Given the description of an element on the screen output the (x, y) to click on. 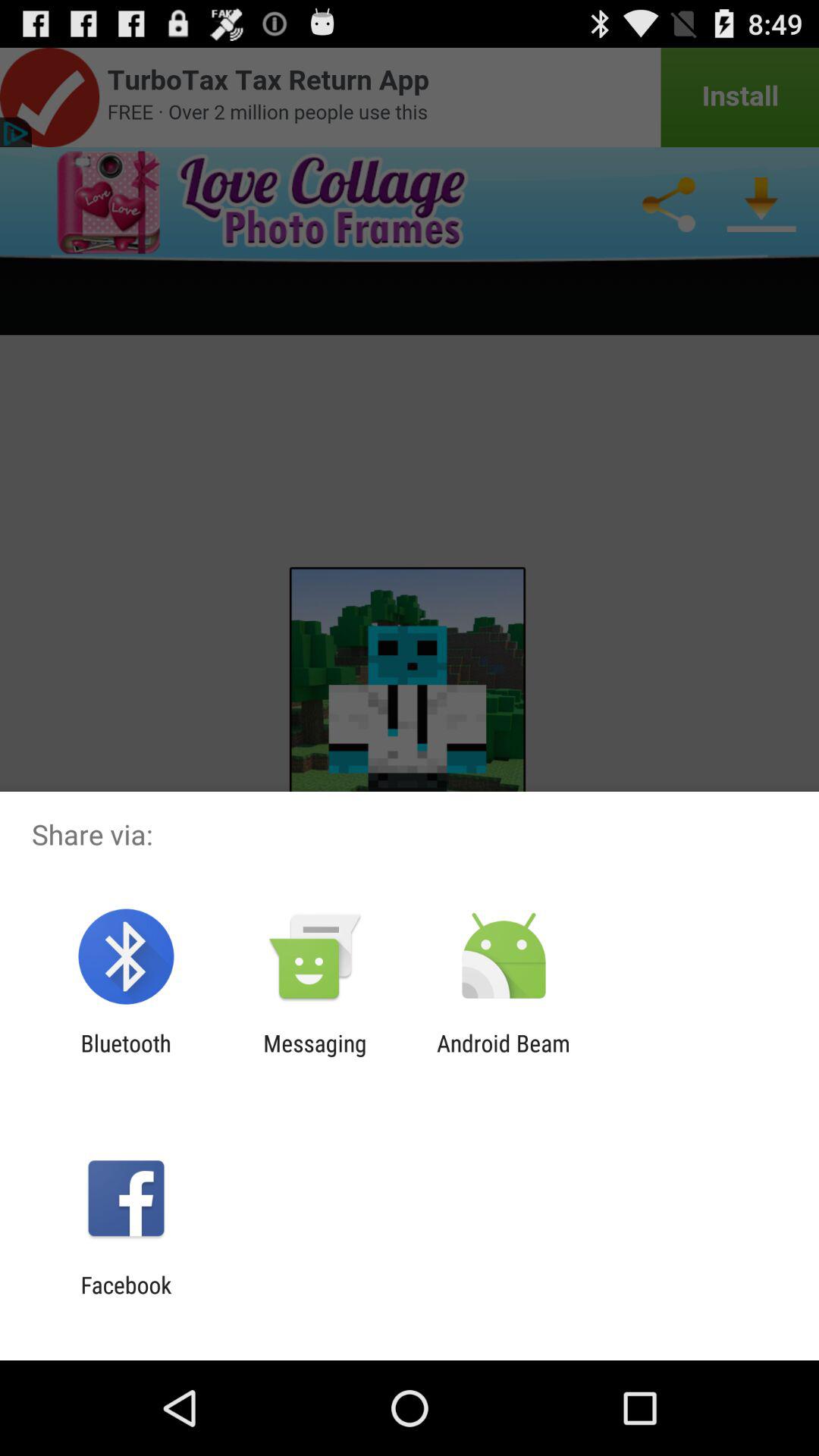
click item to the left of messaging item (125, 1056)
